Given the description of an element on the screen output the (x, y) to click on. 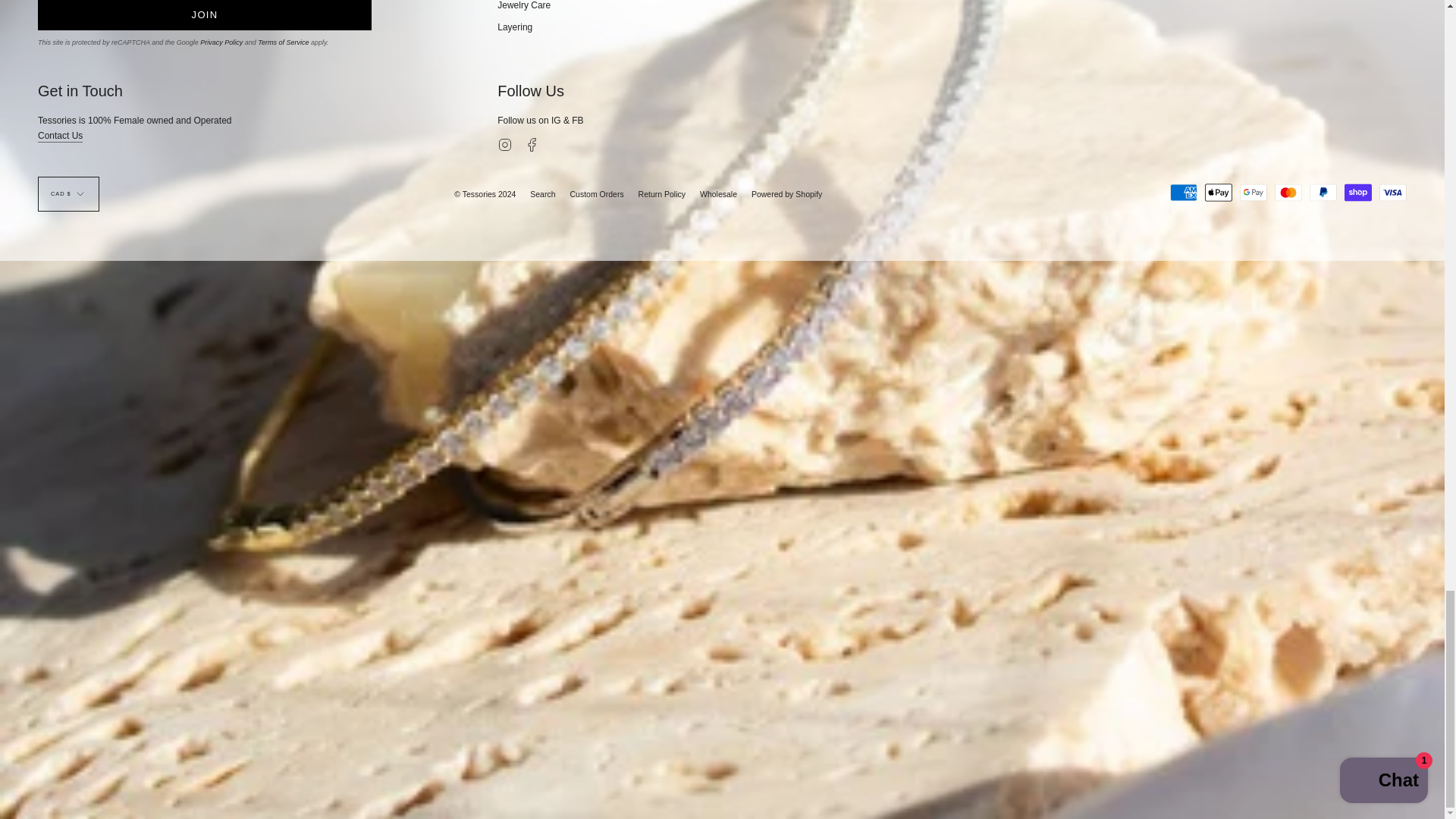
Mastercard (1288, 192)
Tessories on Instagram (504, 143)
Contact (59, 137)
American Express (1183, 192)
Google Pay (1253, 192)
Apple Pay (1218, 192)
Tessories on Facebook (532, 143)
